Given the description of an element on the screen output the (x, y) to click on. 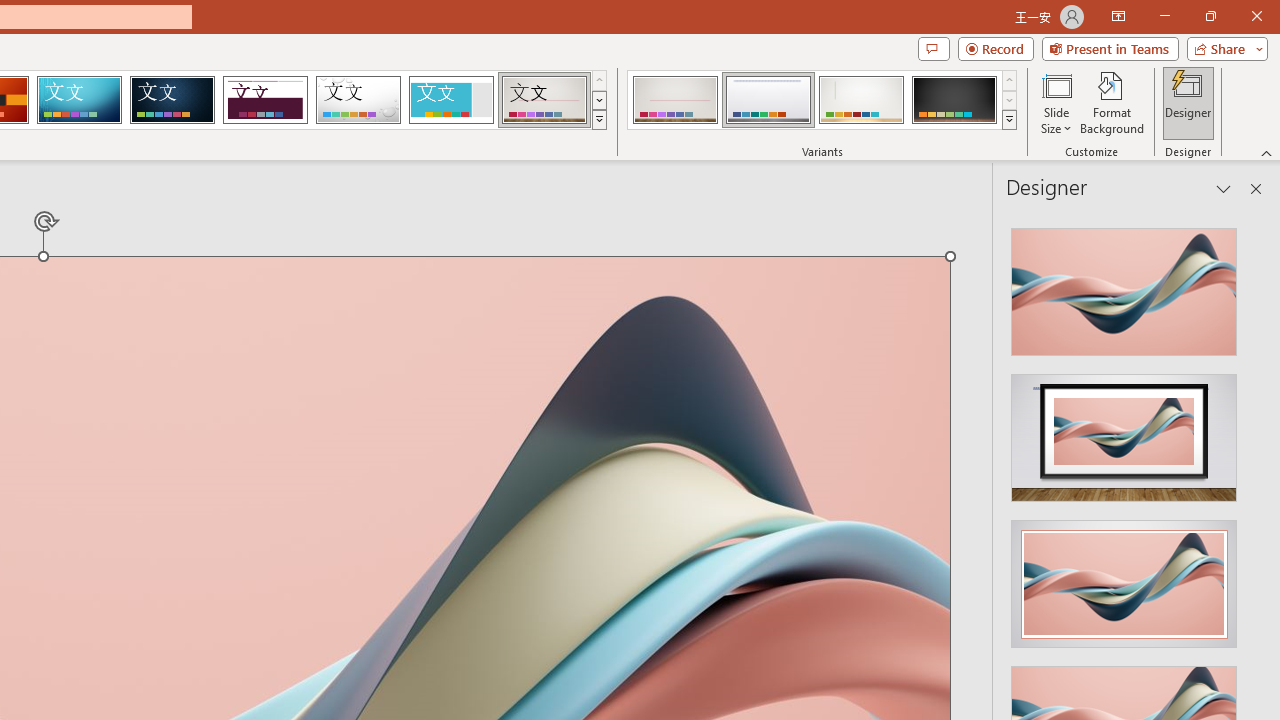
Frame (450, 100)
Gallery Variant 3 (861, 100)
